Given the description of an element on the screen output the (x, y) to click on. 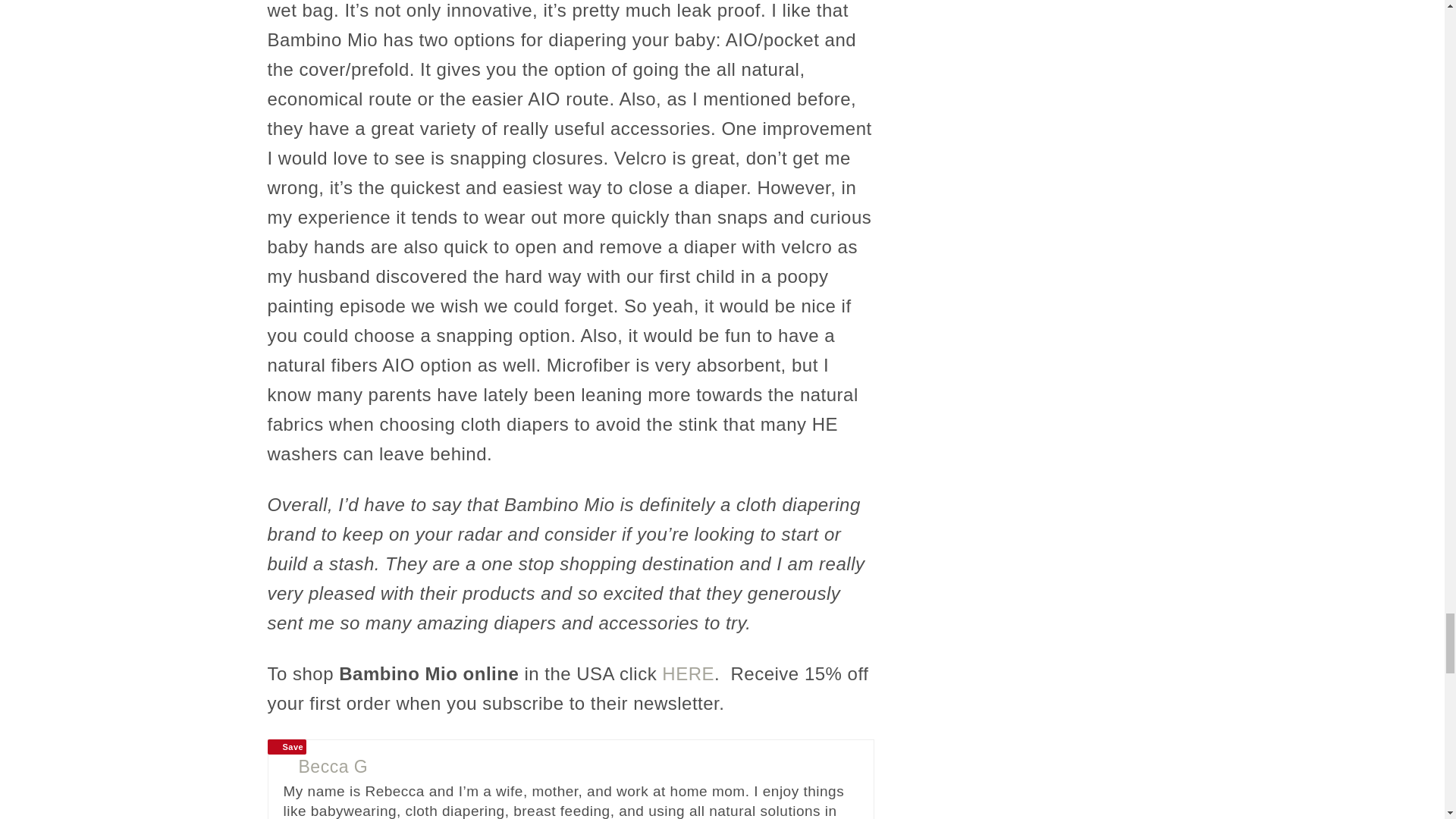
Becca G (333, 766)
HERE (688, 673)
